Given the description of an element on the screen output the (x, y) to click on. 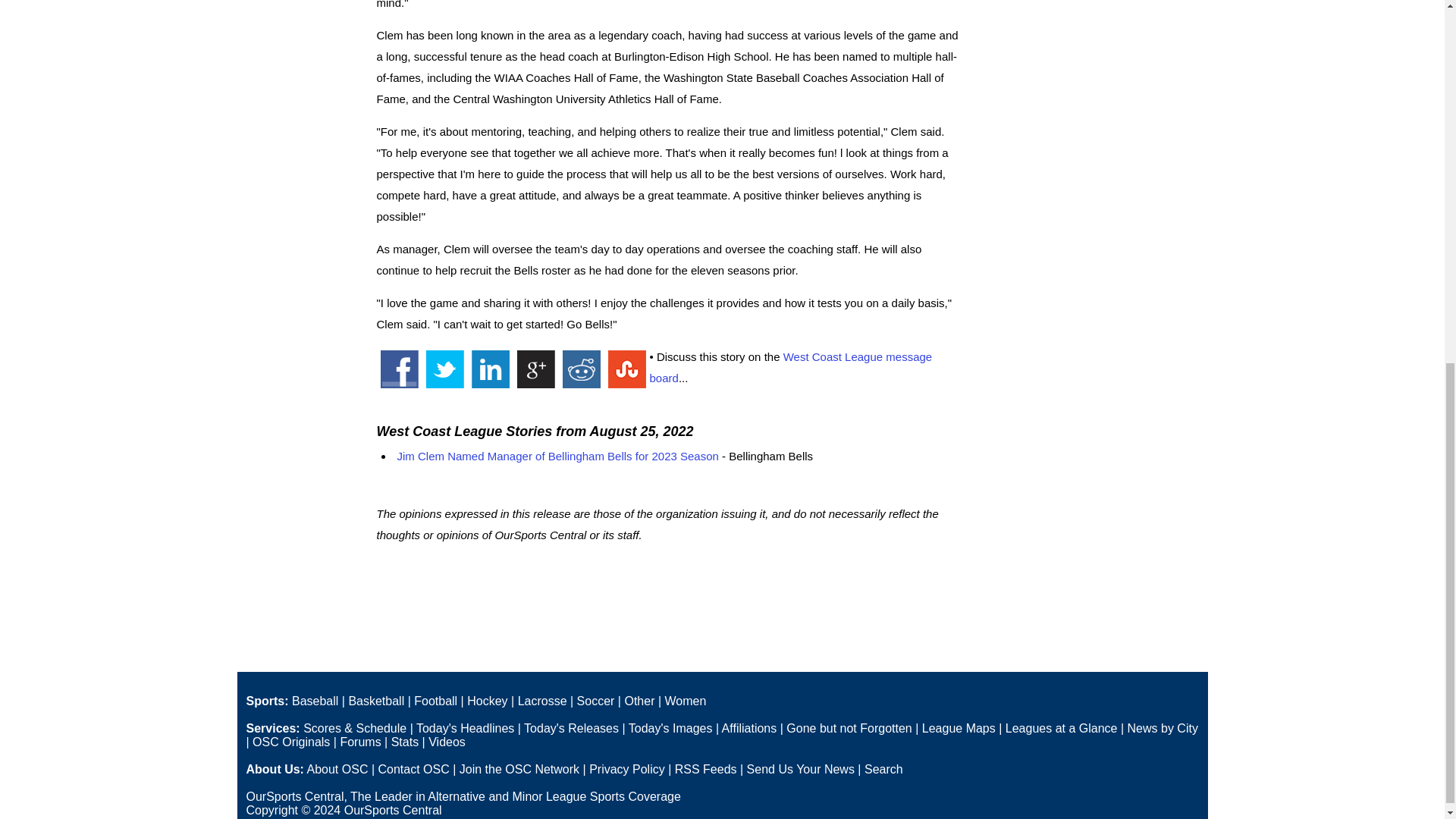
Today's Releases (571, 727)
Contact OSC (412, 768)
Today's Headlines (464, 727)
League Maps (958, 727)
Leagues at a Glance (1062, 727)
Join the OSC Network (519, 768)
Send Us Your News (800, 768)
RSS Feeds (705, 768)
OSC Originals (290, 741)
Privacy Policy (627, 768)
